Given the description of an element on the screen output the (x, y) to click on. 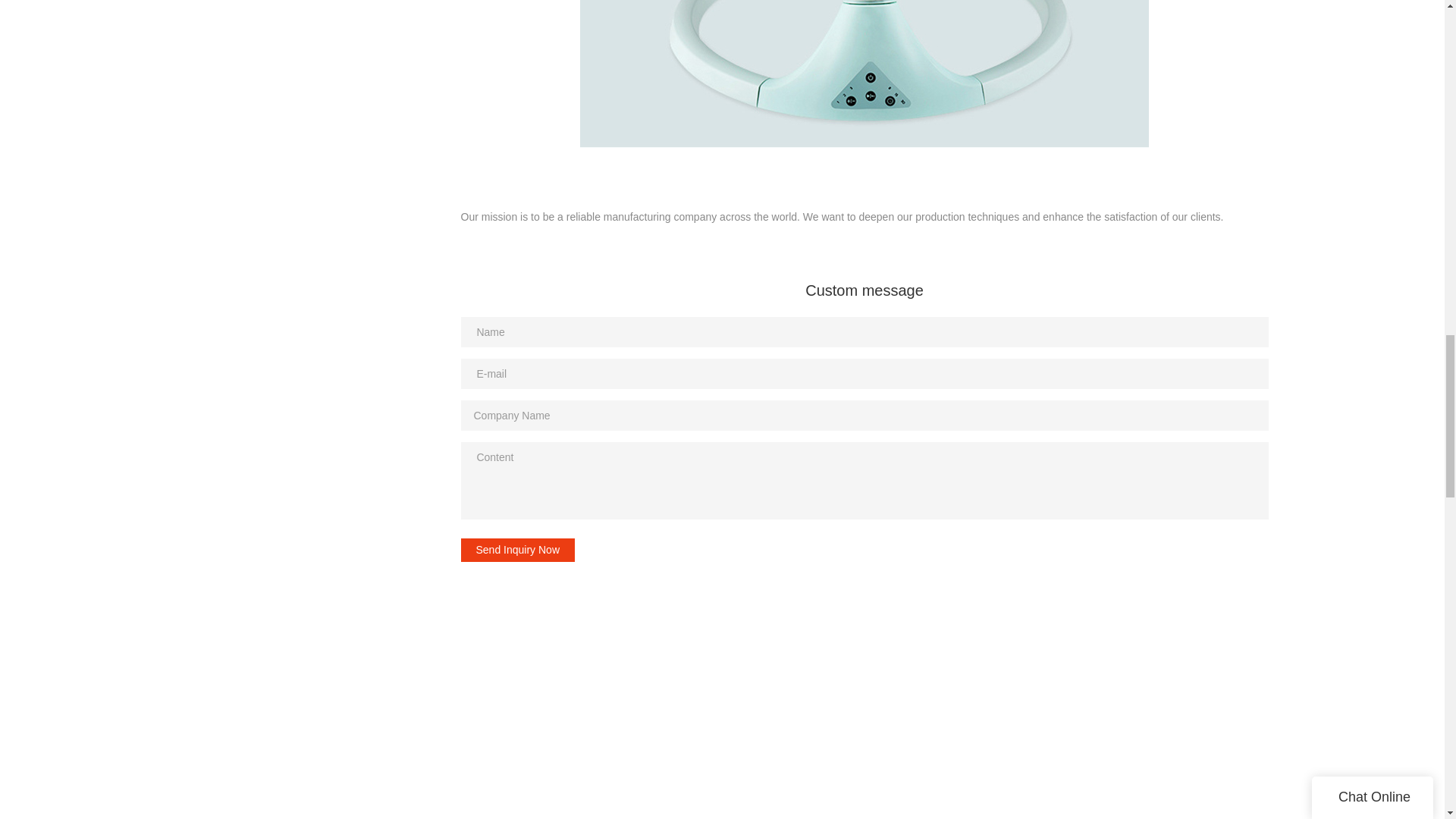
Send Inquiry Now (518, 550)
